Given the description of an element on the screen output the (x, y) to click on. 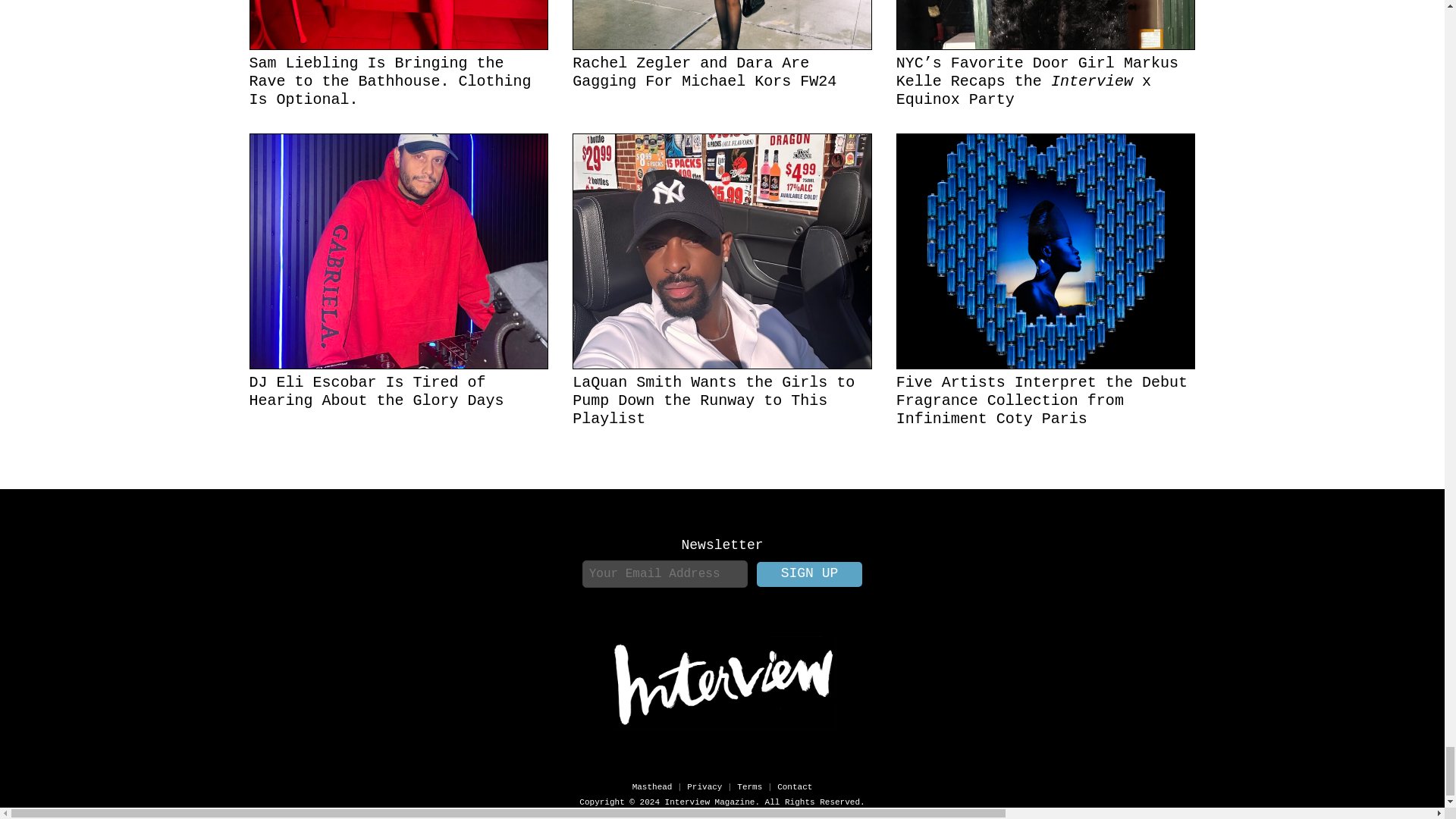
Sign up (810, 574)
